Given the description of an element on the screen output the (x, y) to click on. 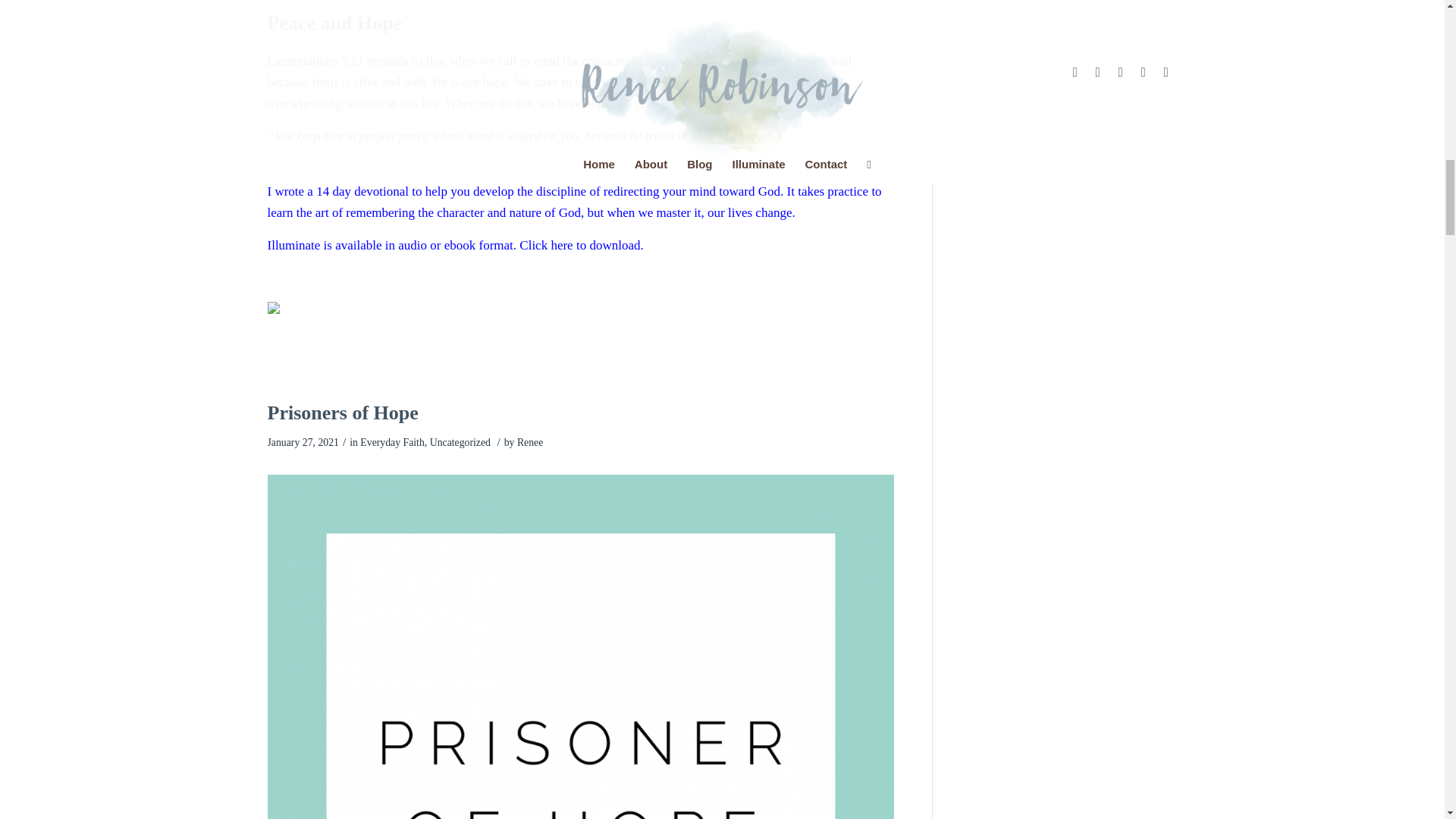
Prisoners of Hope (341, 413)
Uncategorized (459, 441)
Everyday Faith (391, 441)
Posts by Renee (529, 441)
Permanent Link: Prisoners of Hope (341, 413)
Click here to download.  (582, 245)
Renee (529, 441)
